Given the description of an element on the screen output the (x, y) to click on. 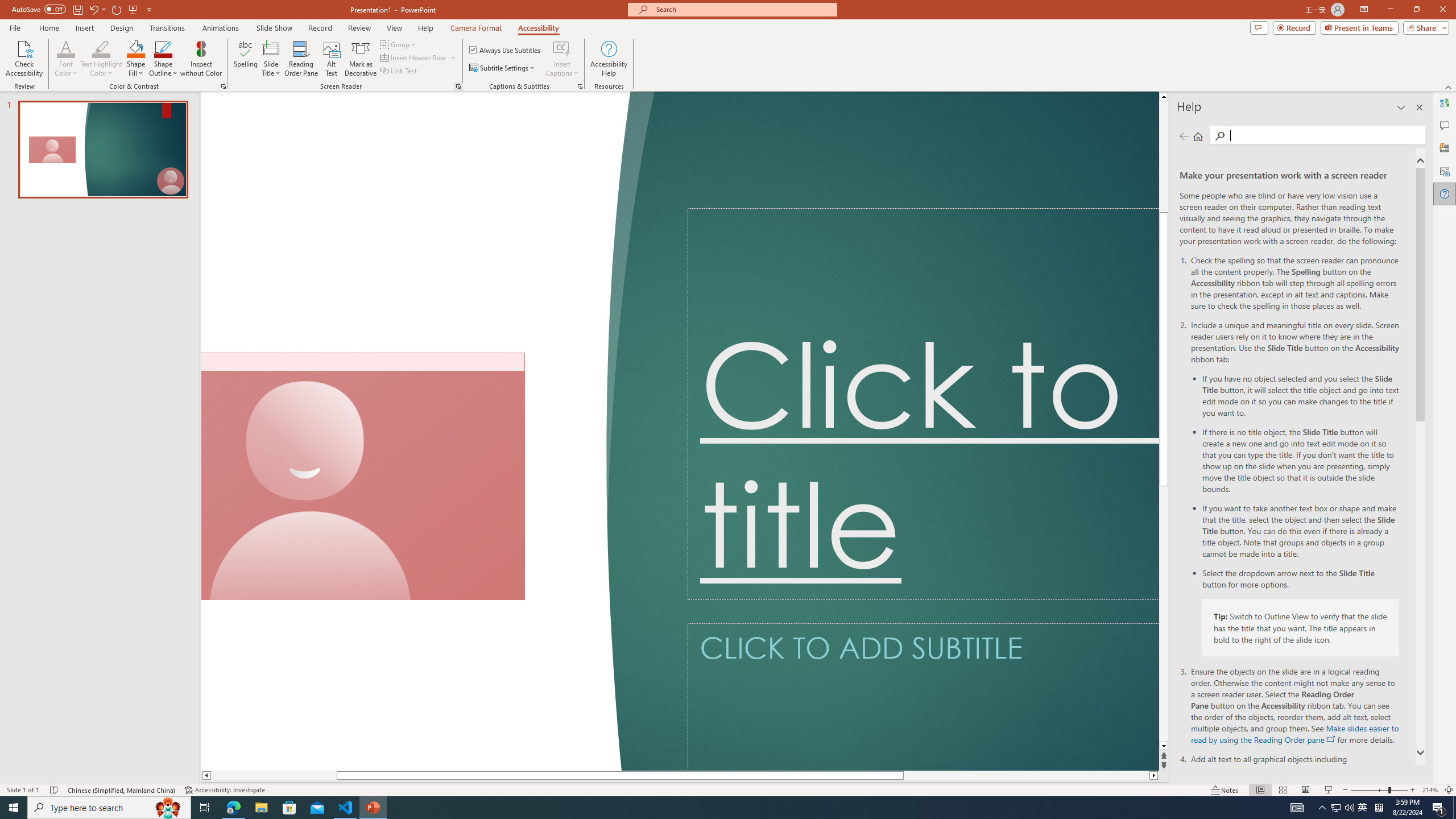
Insert Header Row (413, 56)
Shape Fill Orange, Accent 2 (135, 48)
Mark as Decorative (360, 58)
Decorative Locked (419, 430)
